Given the description of an element on the screen output the (x, y) to click on. 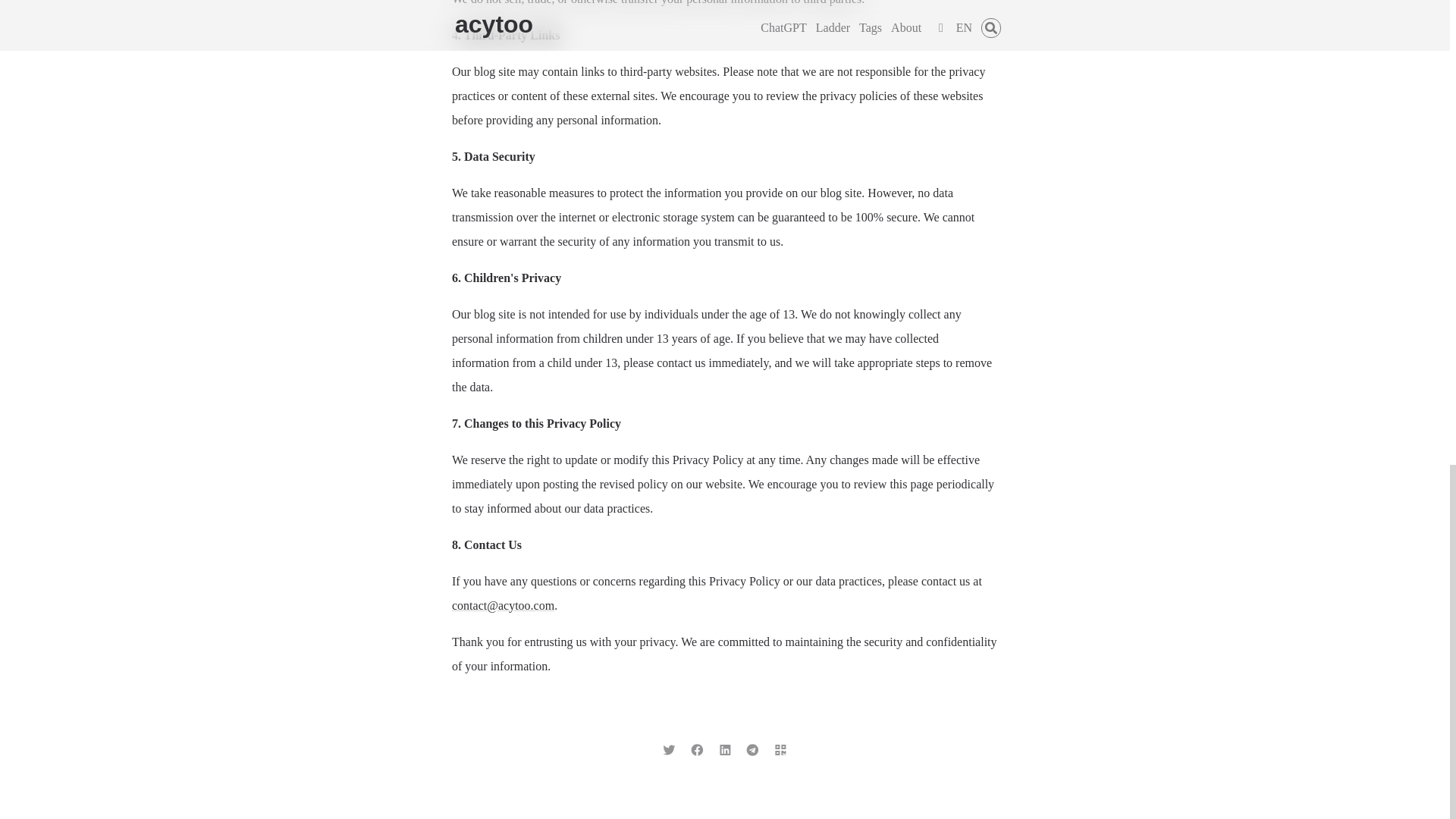
Share on LinkedIn (725, 748)
Share on Twitter (668, 748)
Share on Telegram (751, 748)
Share on Facebook (696, 748)
